Given the description of an element on the screen output the (x, y) to click on. 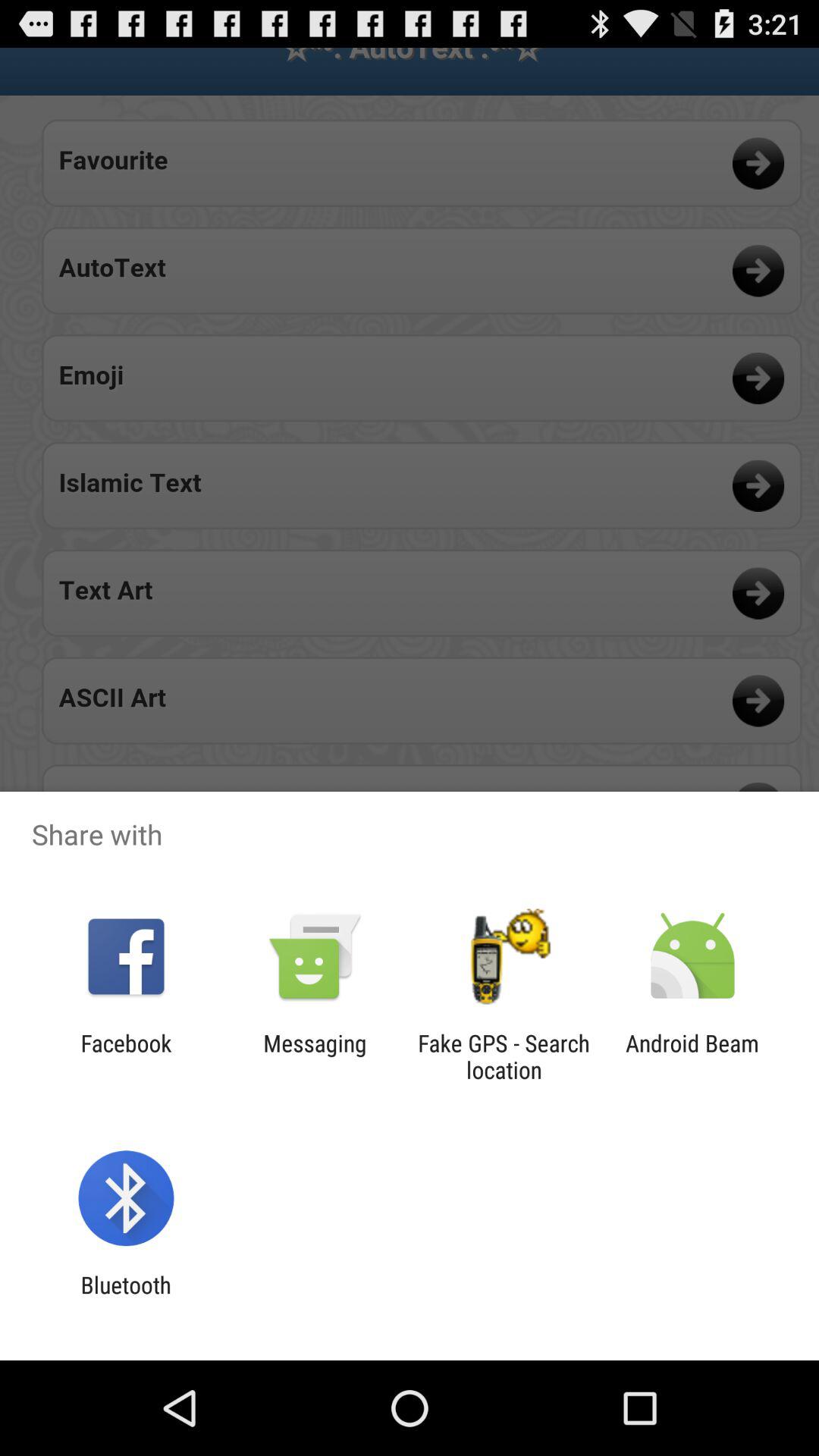
turn off app next to the facebook app (314, 1056)
